Given the description of an element on the screen output the (x, y) to click on. 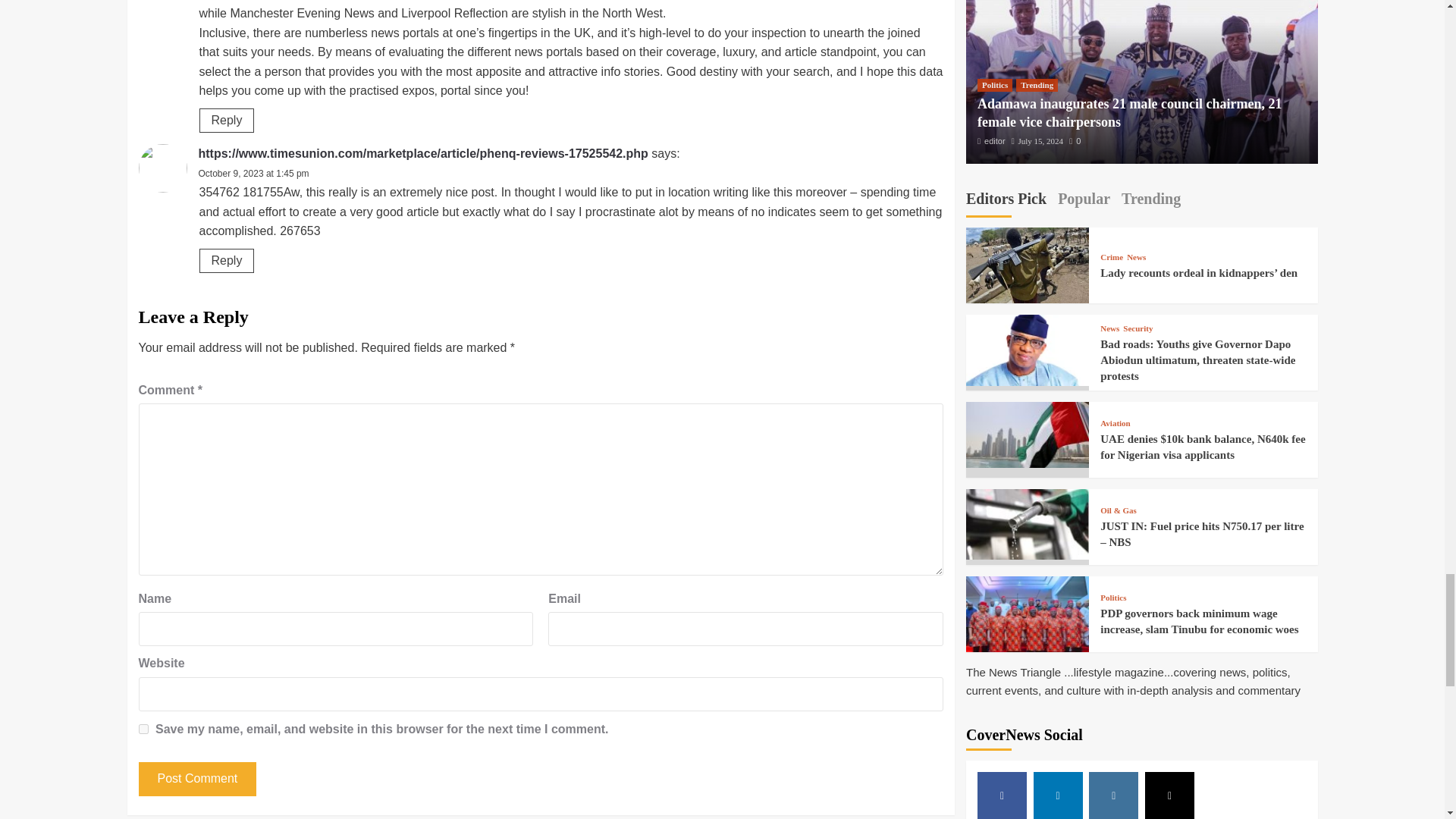
yes (143, 728)
Post Comment (197, 779)
